Given the description of an element on the screen output the (x, y) to click on. 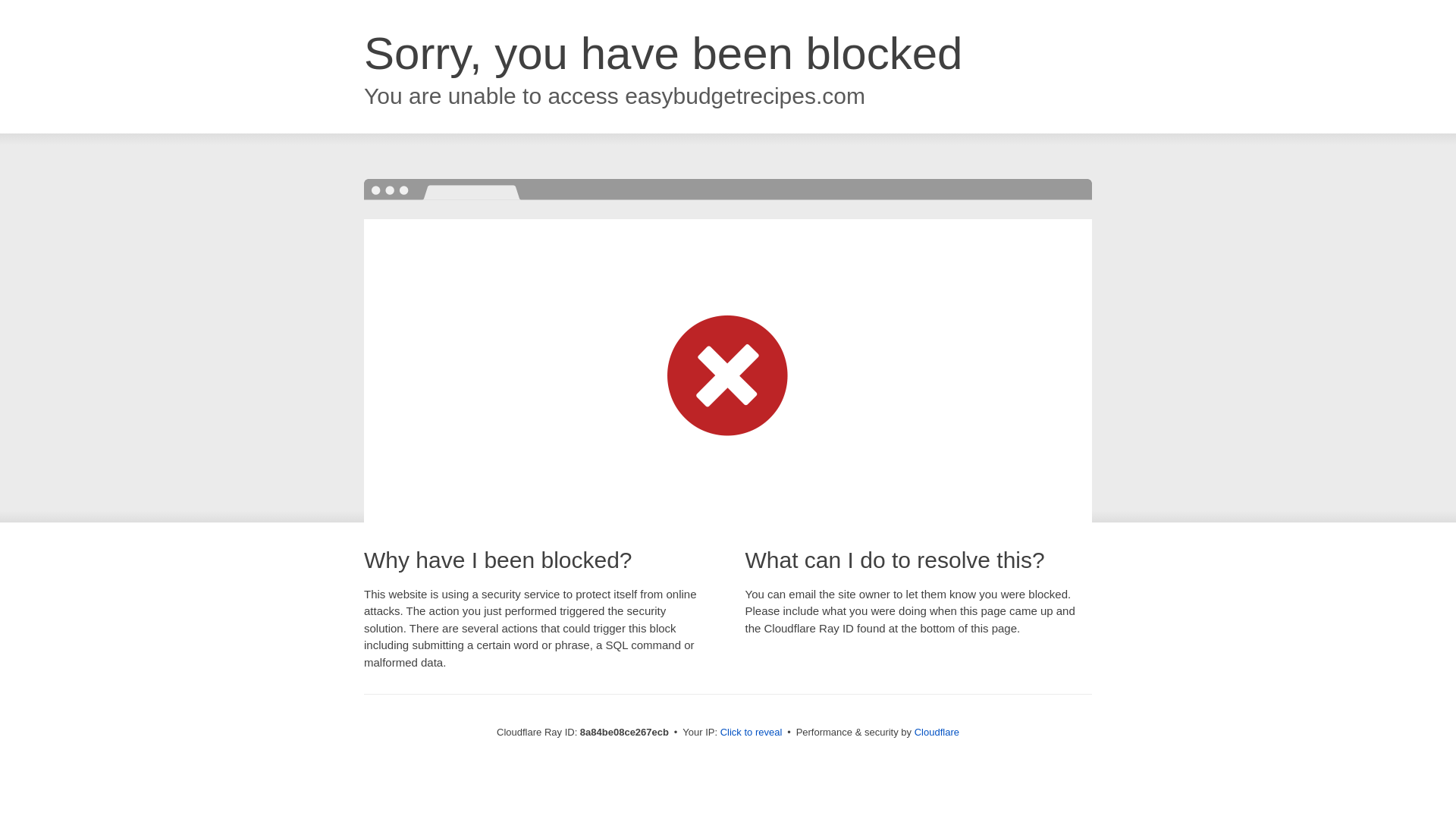
Click to reveal (751, 732)
Cloudflare (936, 731)
